Given the description of an element on the screen output the (x, y) to click on. 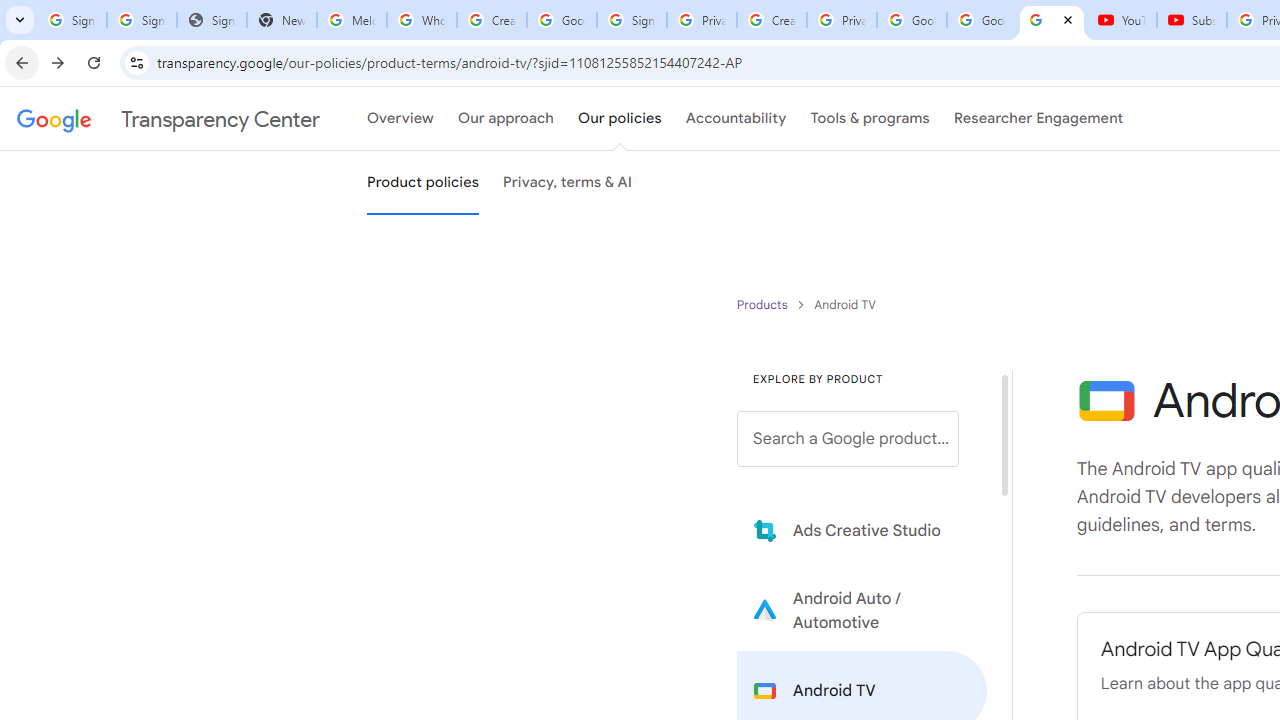
Our approach (506, 119)
Learn more about Ads Creative Studio (862, 530)
Create your Google Account (772, 20)
Sign in - Google Accounts (141, 20)
Android TV Policies and Guidelines - Transparency Center (1051, 20)
Create your Google Account (492, 20)
Product policies (763, 304)
Learn more about Android Auto (862, 610)
Learn more about Android Auto (862, 610)
New Tab (282, 20)
Researcher Engagement (1038, 119)
